Given the description of an element on the screen output the (x, y) to click on. 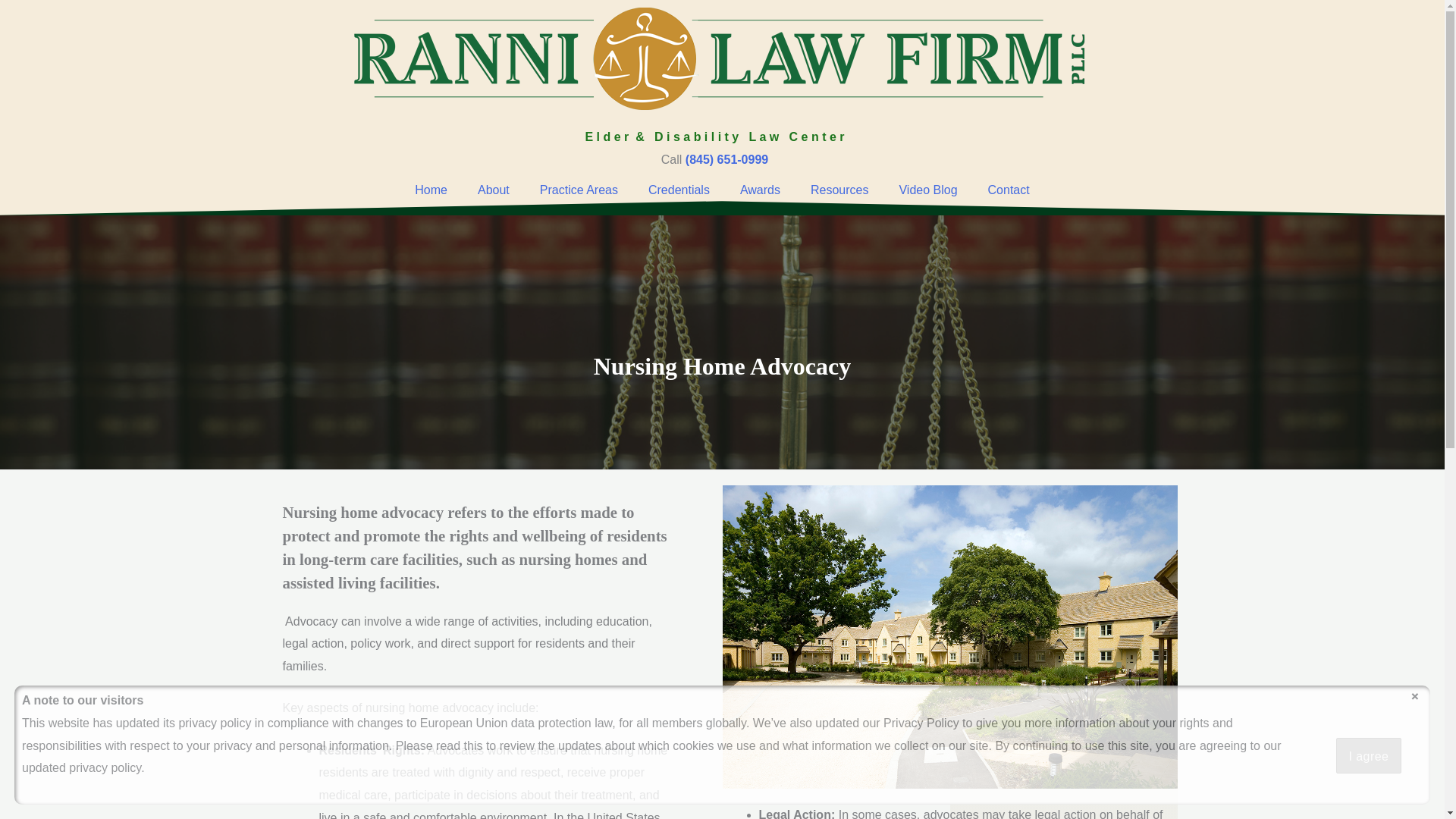
I agree (1369, 755)
Contact (1008, 190)
Ranni Law Firm, PLLC logo - Ranni Law Firm, PLLC (721, 58)
About (493, 190)
Video Blog (927, 190)
Awards (759, 190)
Home (430, 190)
Credentials (679, 190)
Resources (838, 190)
Practice Areas (578, 190)
